Given the description of an element on the screen output the (x, y) to click on. 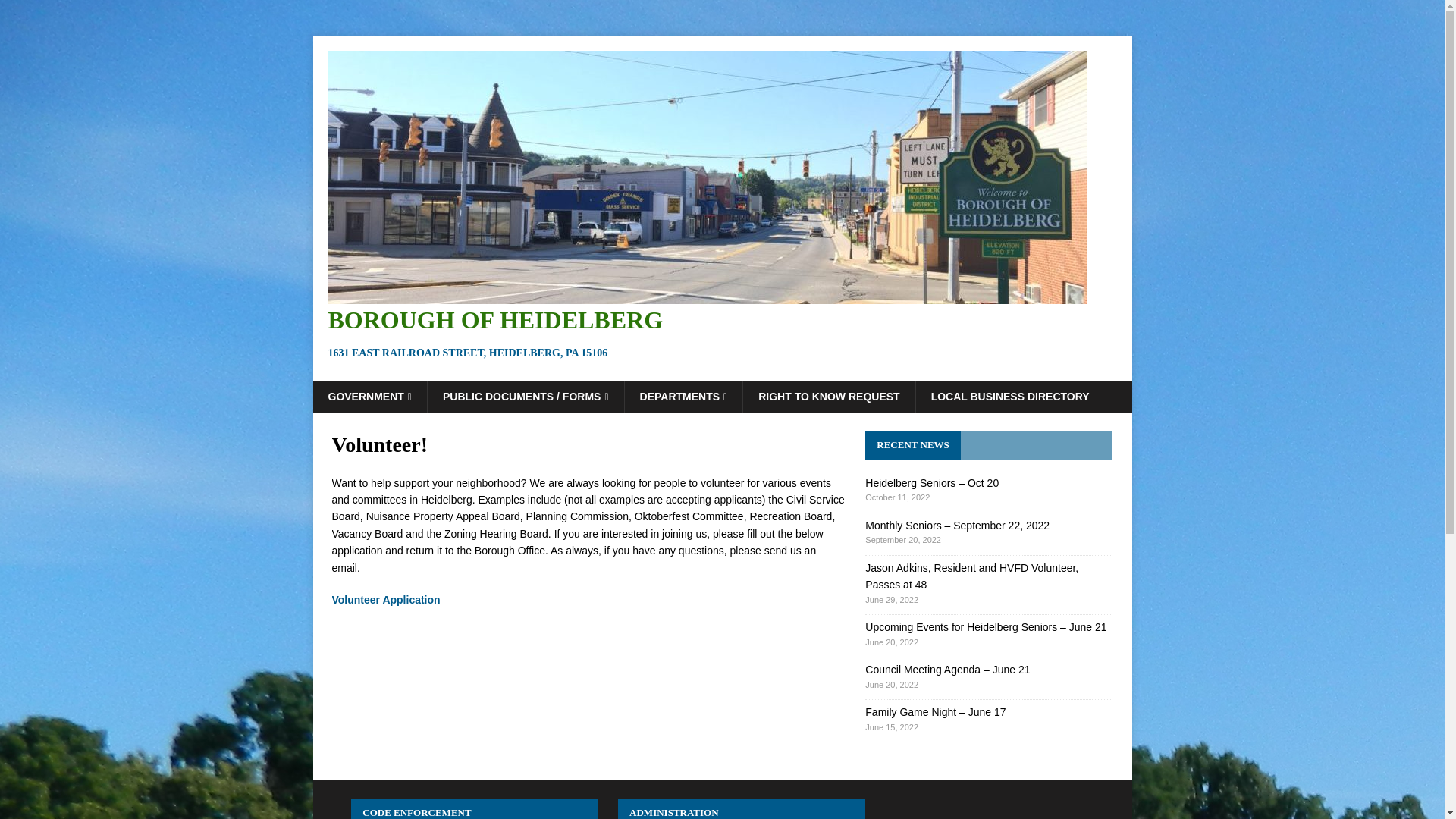
GOVERNMENT (369, 396)
Borough of Heidelberg (721, 332)
